Given the description of an element on the screen output the (x, y) to click on. 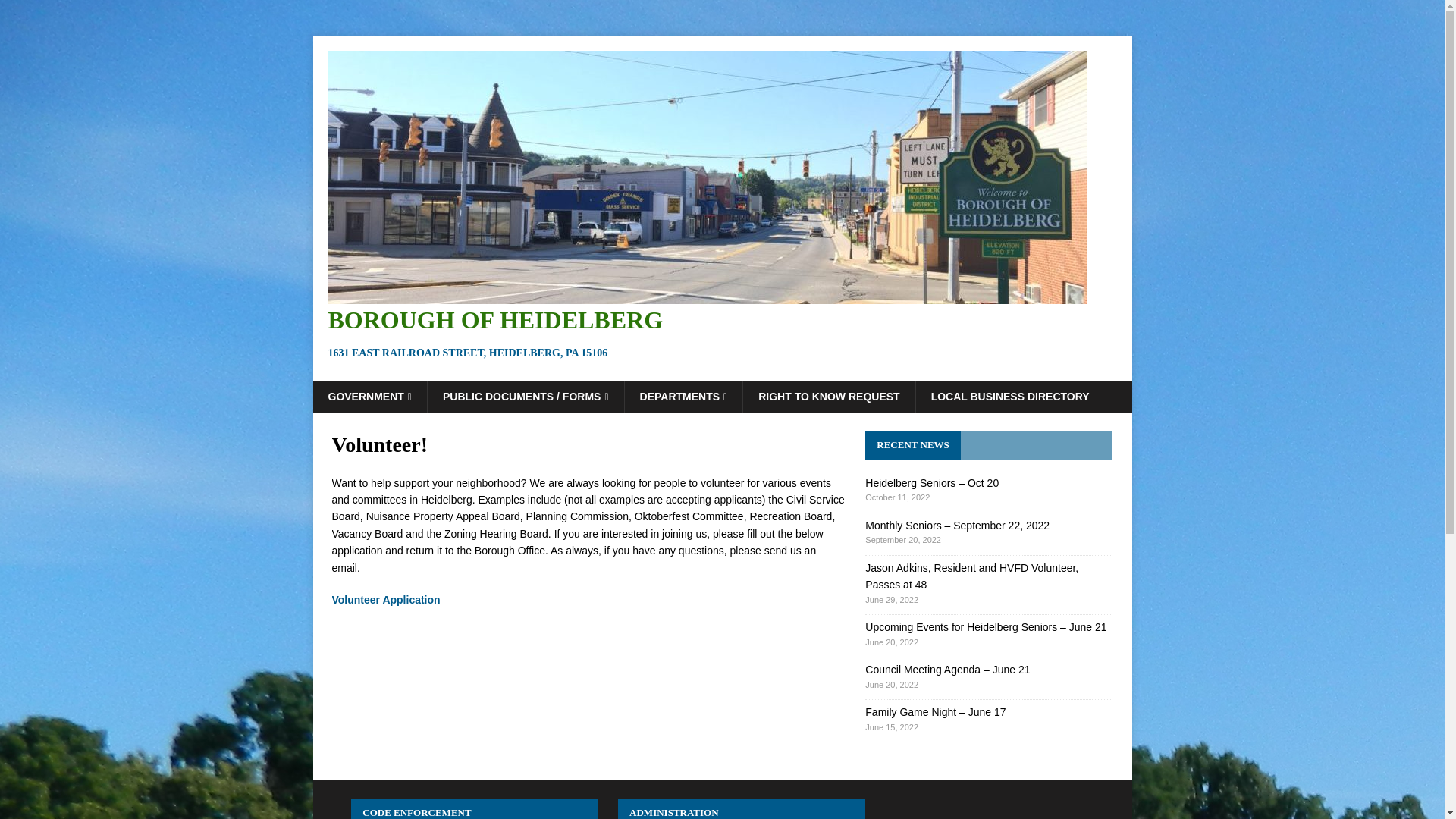
GOVERNMENT (369, 396)
Borough of Heidelberg (721, 332)
